Given the description of an element on the screen output the (x, y) to click on. 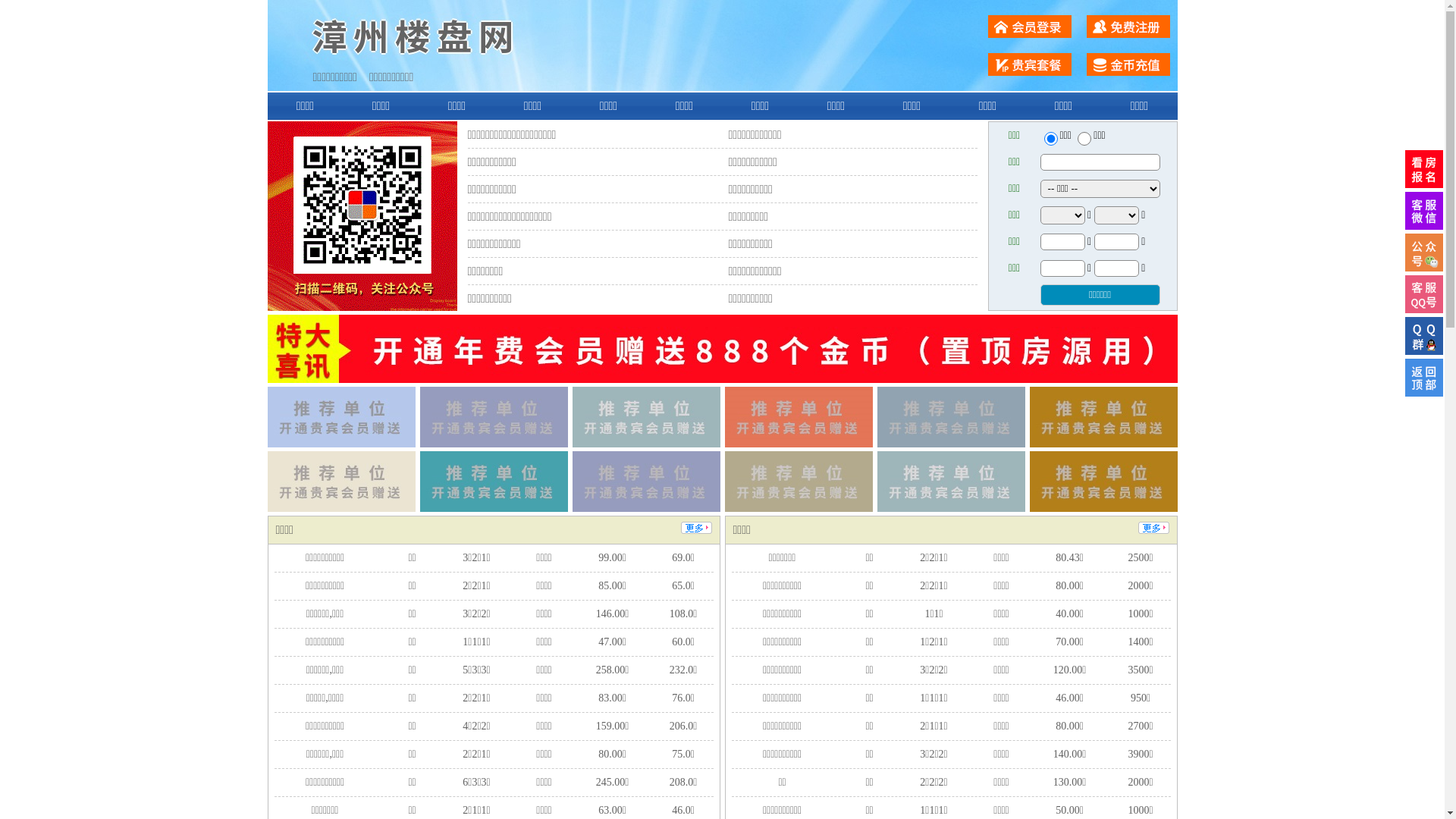
chuzu Element type: text (1084, 138)
ershou Element type: text (1050, 138)
